Given the description of an element on the screen output the (x, y) to click on. 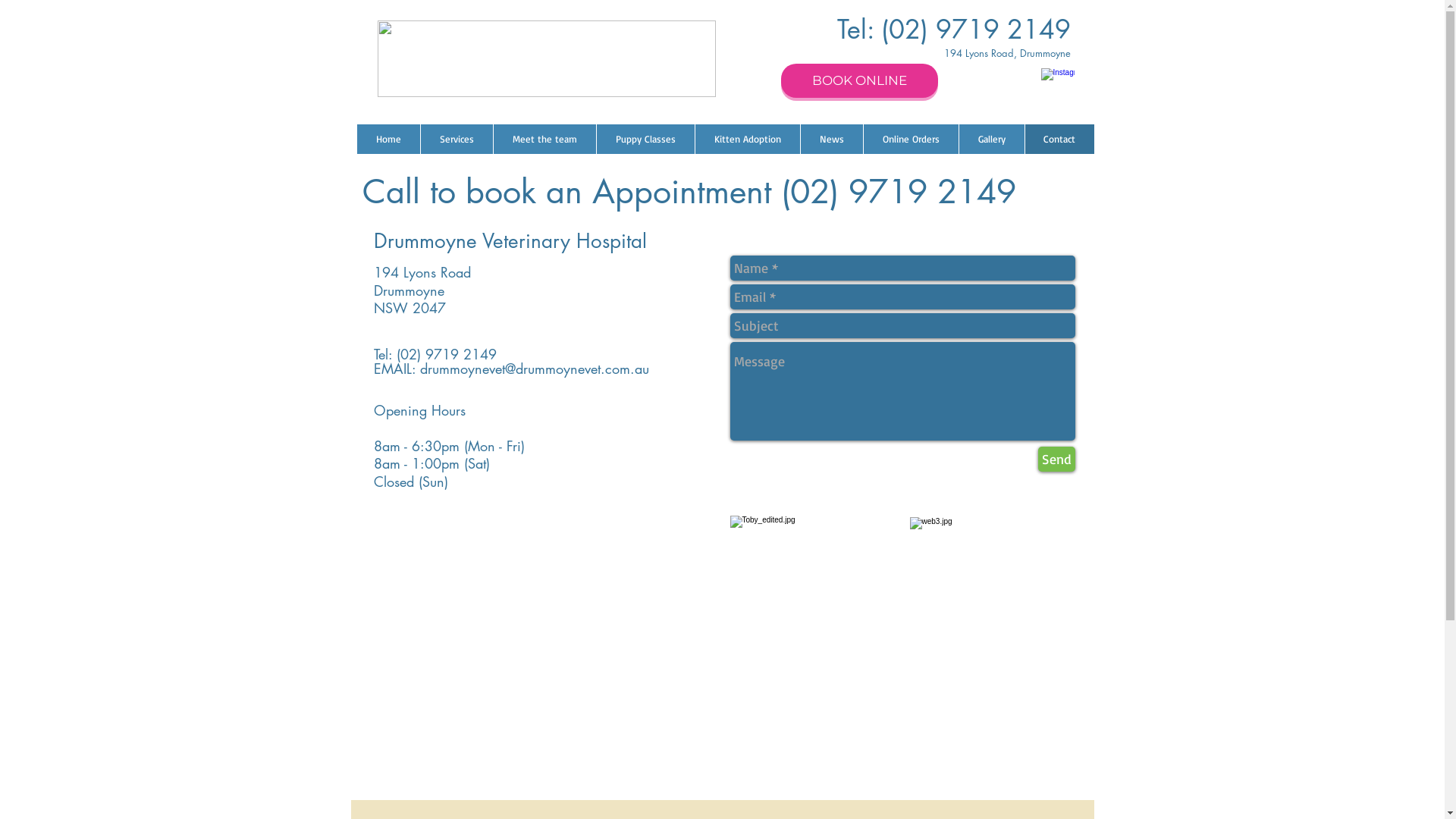
Drummoyne-Veterinary-Hospital-ver1.jpg Element type: hover (546, 58)
Meet the team Element type: text (544, 138)
Send Element type: text (1055, 458)
Gallery Element type: text (991, 138)
News Element type: text (830, 138)
Services Element type: text (456, 138)
drummoynevet@drummoynevet.com.au Element type: text (534, 368)
Contact Element type: text (1058, 138)
Kitten Adoption Element type: text (747, 138)
Puppy Classes Element type: text (645, 138)
BOOK ONLINE Element type: text (859, 80)
Google Maps Element type: hover (525, 647)
Online Orders Element type: text (910, 138)
Home Element type: text (387, 138)
